Given the description of an element on the screen output the (x, y) to click on. 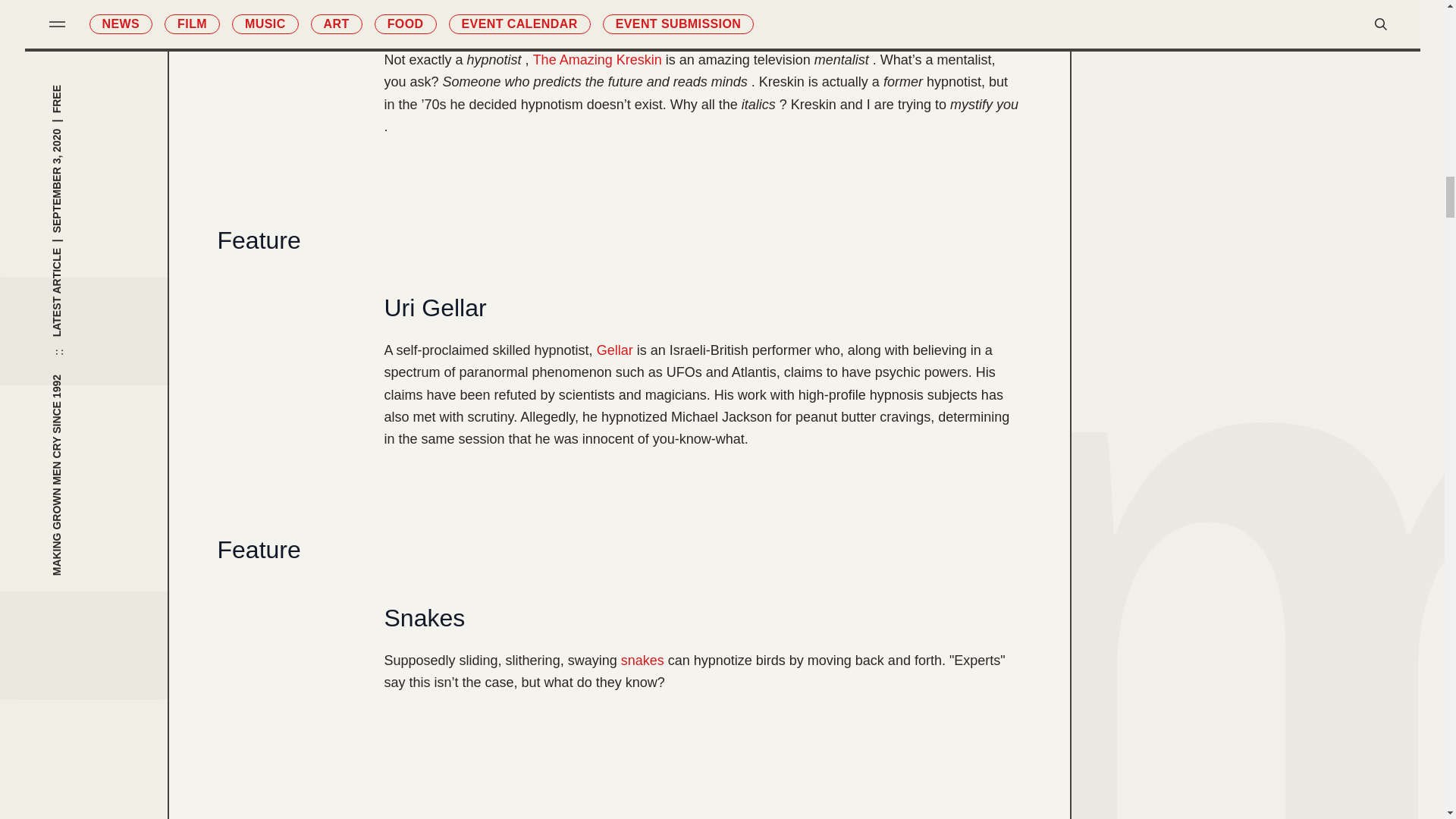
The Amazing Kreskin (597, 60)
Gellar (614, 350)
snakes (642, 660)
